Given the description of an element on the screen output the (x, y) to click on. 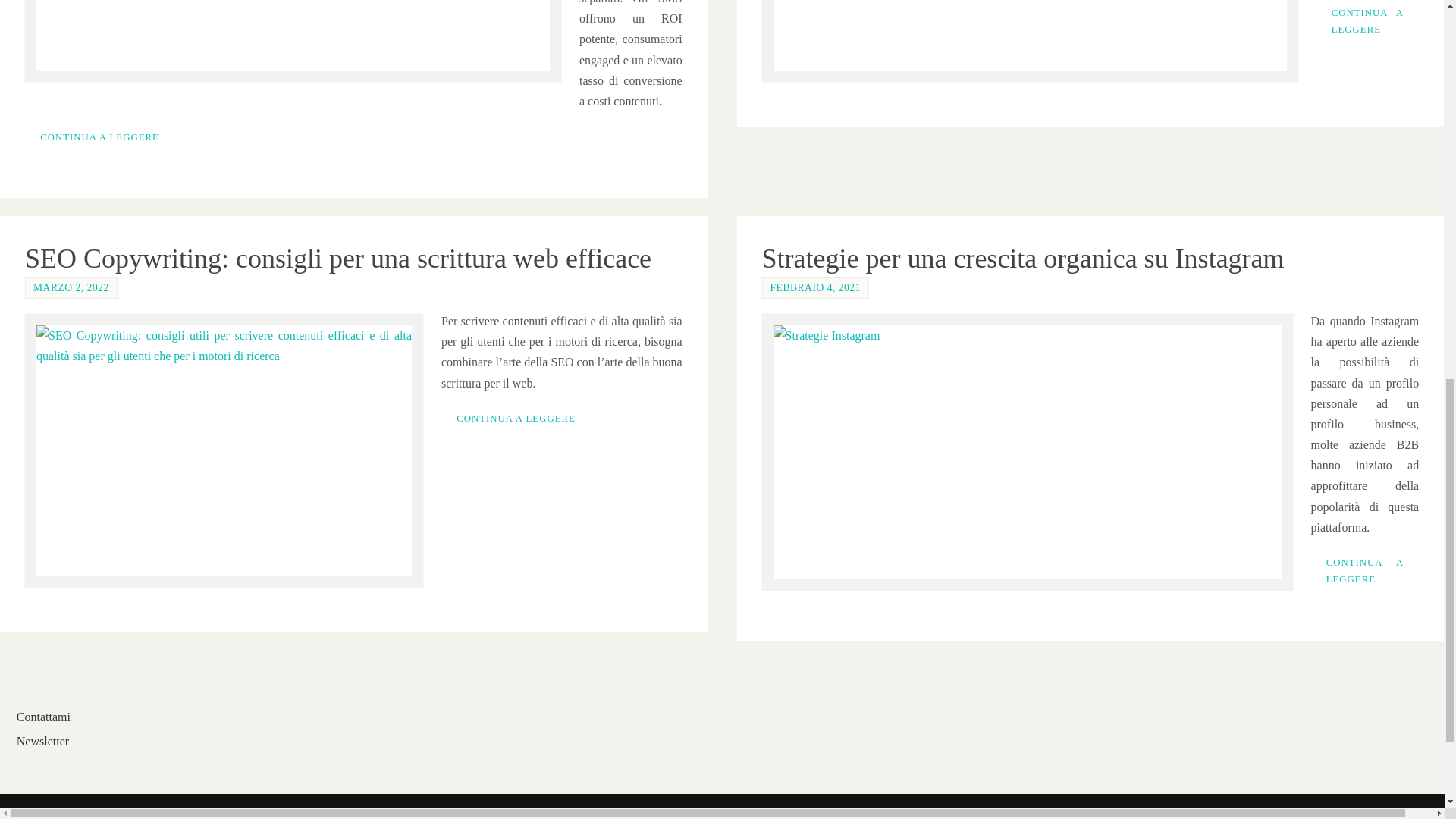
Permalink a Strategie per una crescita organica su Instagram (1022, 258)
CONTINUA A LEGGERE (99, 137)
CONTINUA A LEGGERE (1367, 23)
